Given the description of an element on the screen output the (x, y) to click on. 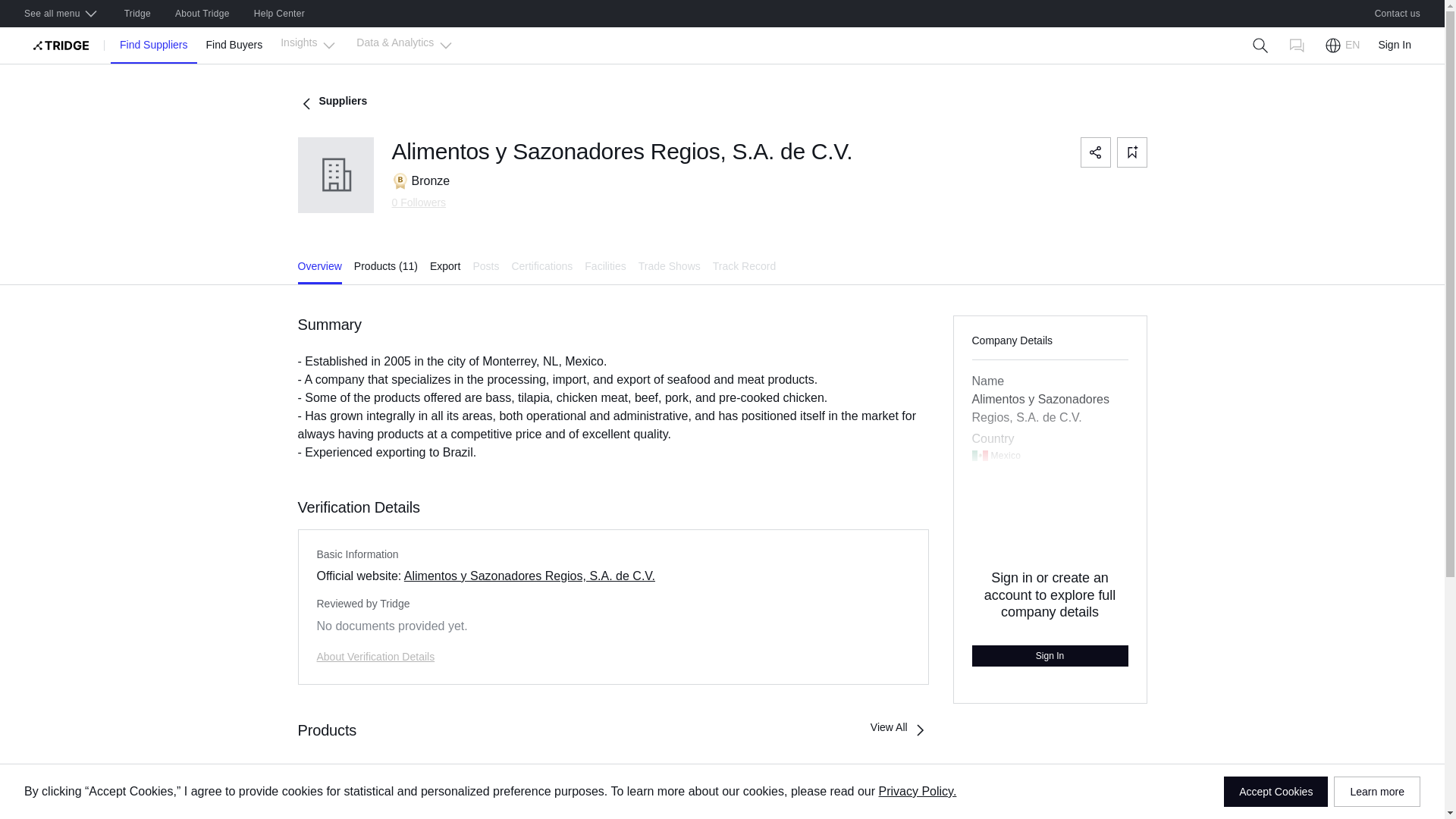
About Tridge (202, 13)
Tridge (137, 13)
See all menu (61, 13)
Contact us (1397, 13)
Help Center (279, 13)
